Given the description of an element on the screen output the (x, y) to click on. 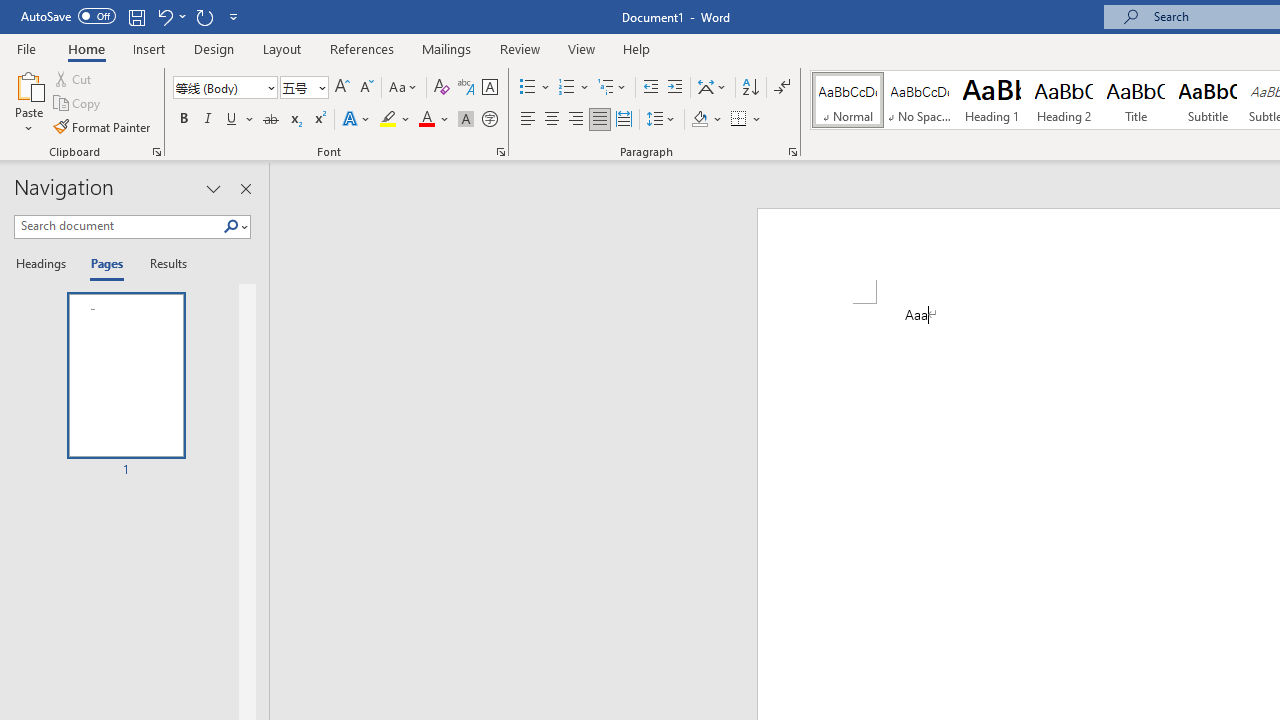
Undo Increase Indent (164, 15)
Heading 1 (991, 100)
Align Right (575, 119)
Class: NetUIImage (231, 226)
Headings (45, 264)
Save (136, 15)
Asian Layout (712, 87)
Center (552, 119)
Bold (183, 119)
Subtitle (1208, 100)
